Given the description of an element on the screen output the (x, y) to click on. 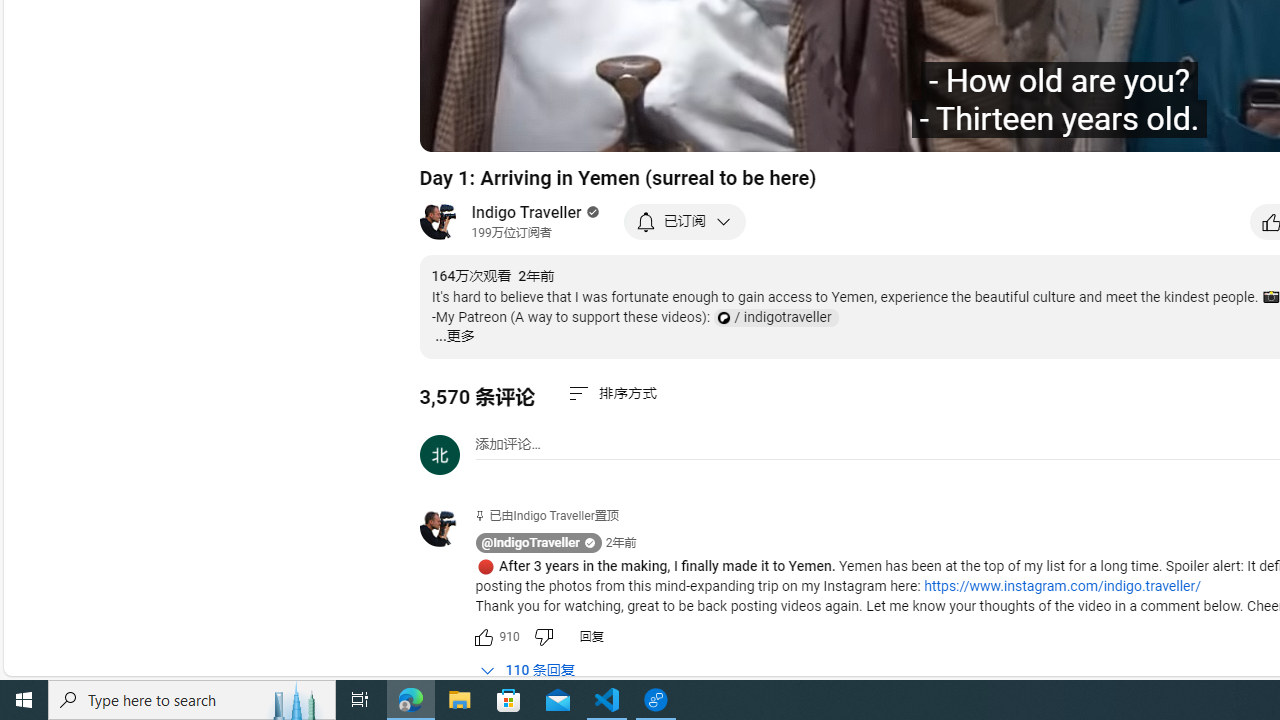
Indigo Traveller (527, 211)
Intro (683, 127)
AutomationID: simplebox-placeholder (507, 444)
